Given the description of an element on the screen output the (x, y) to click on. 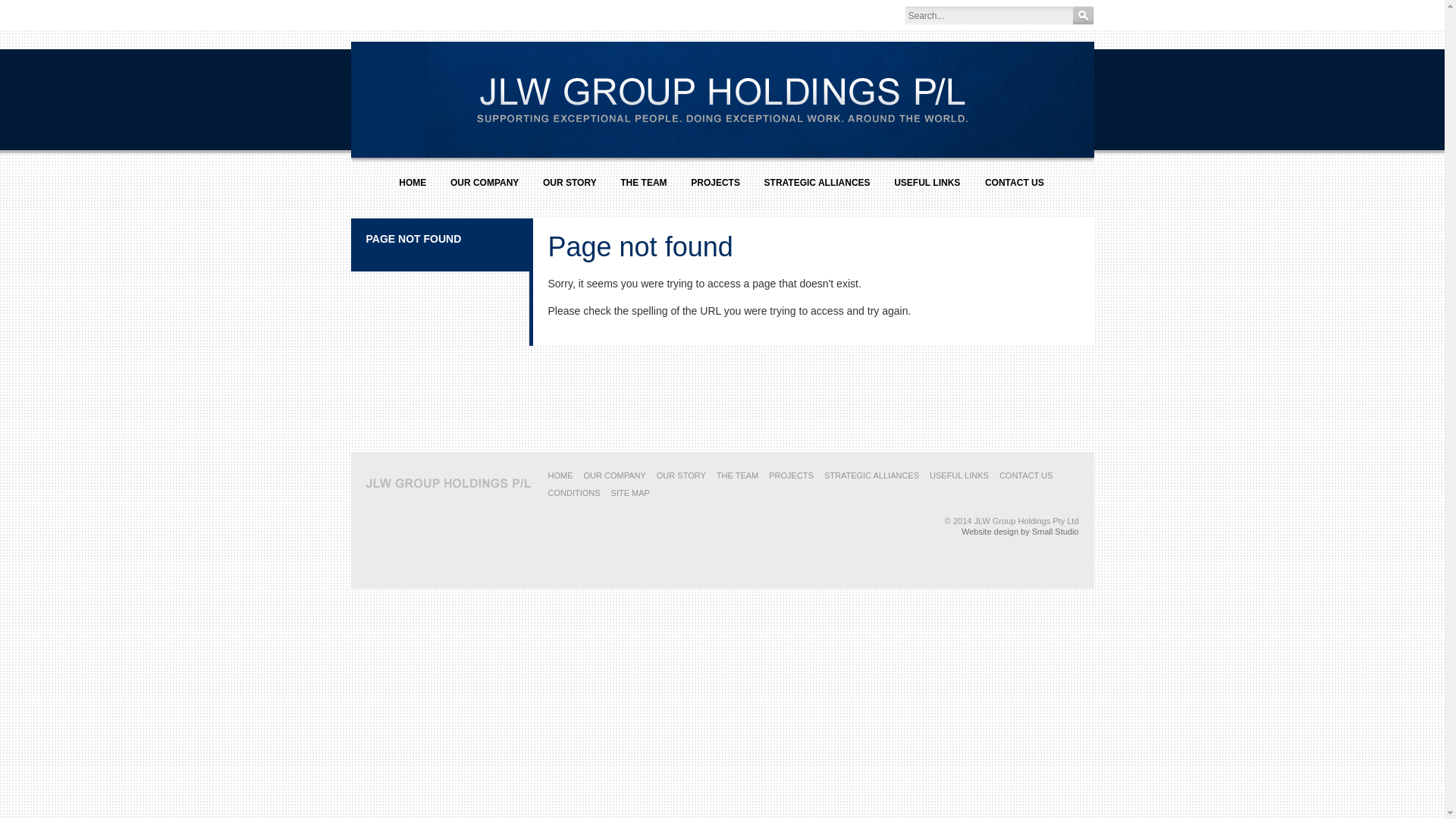
CONTACT US Element type: text (1026, 475)
THE TEAM Element type: text (737, 475)
STRATEGIC ALLIANCES Element type: text (871, 475)
PAGE NOT FOUND Element type: text (413, 238)
CONTACT US Element type: text (1014, 188)
OUR COMPANY Element type: text (484, 188)
USEFUL LINKS Element type: text (958, 475)
USEFUL LINKS Element type: text (927, 188)
PROJECTS Element type: text (715, 188)
STRATEGIC ALLIANCES Element type: text (817, 188)
OUR STORY Element type: text (681, 475)
OUR STORY Element type: text (570, 188)
THE TEAM Element type: text (643, 188)
JLW Group Holdings Element type: text (448, 482)
Website design by Small Studio Element type: text (1020, 531)
SITE MAP Element type: text (630, 492)
OUR COMPANY Element type: text (614, 475)
HOME Element type: text (559, 475)
HOME Element type: text (412, 188)
PROJECTS Element type: text (790, 475)
CONDITIONS Element type: text (573, 492)
